Given the description of an element on the screen output the (x, y) to click on. 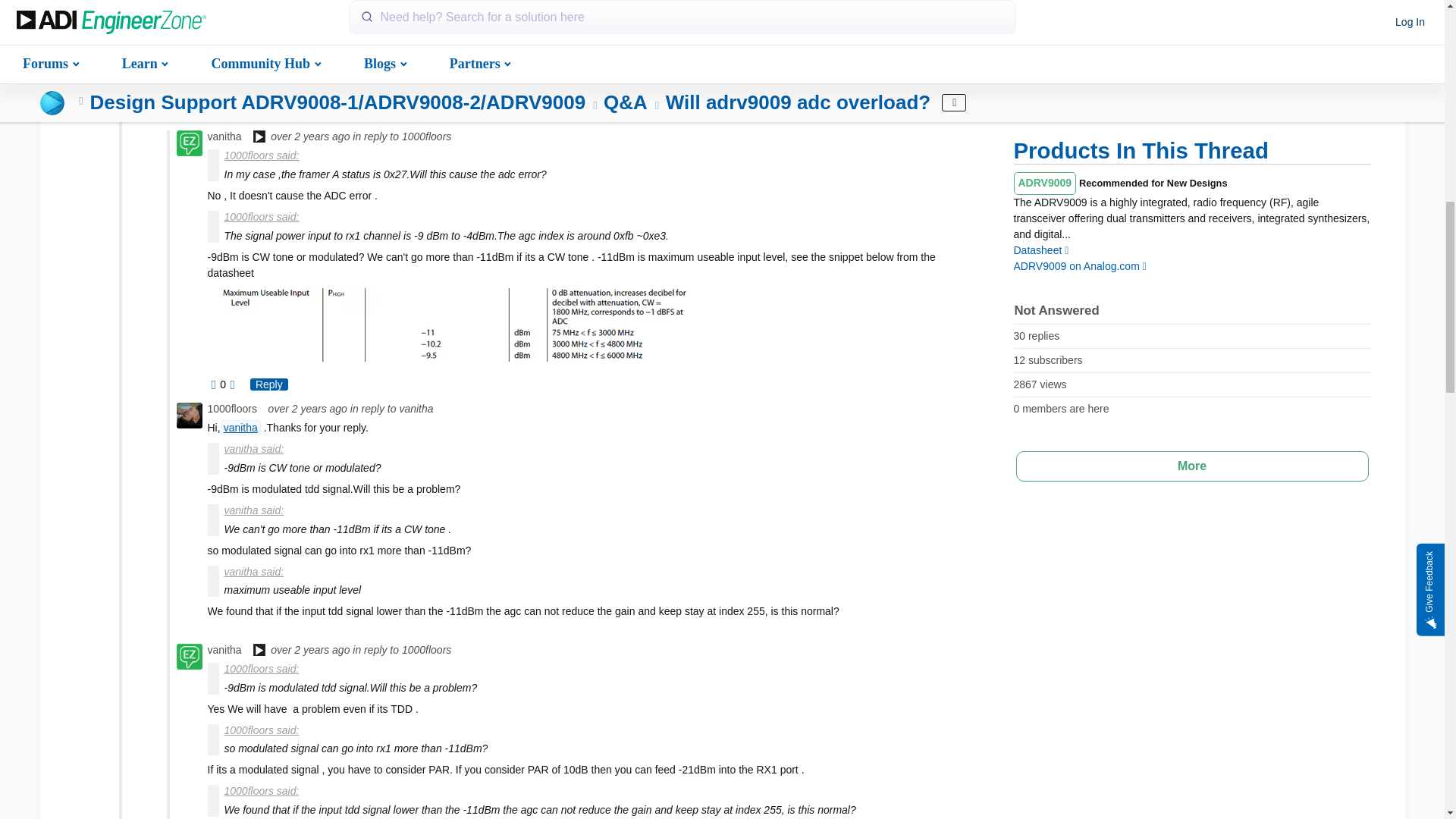
Analog Employees (258, 651)
Analog Employees (258, 137)
